Given the description of an element on the screen output the (x, y) to click on. 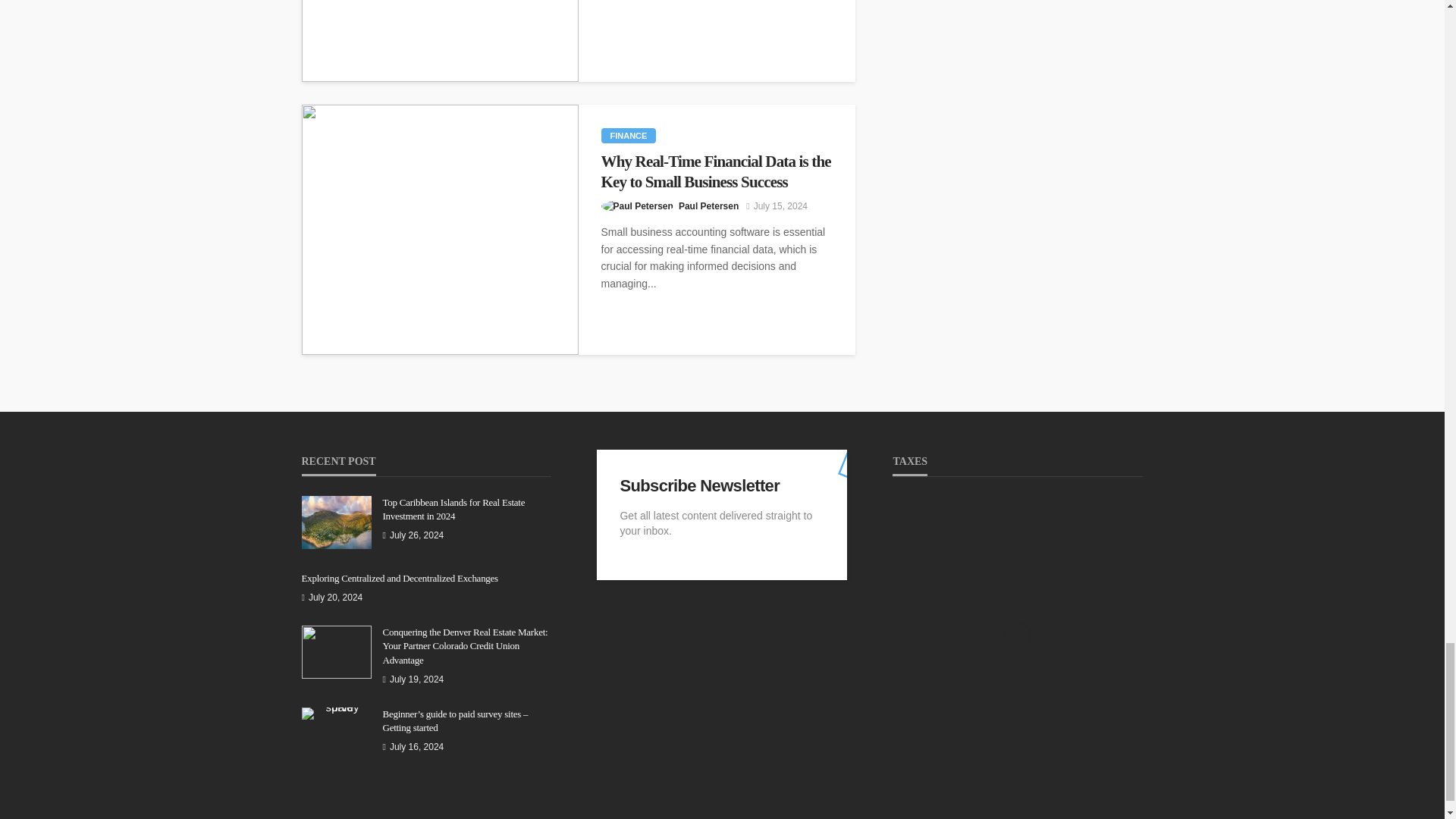
Finance (627, 135)
Tips for Planning Your Dream Vacation in Belize (439, 40)
